Given the description of an element on the screen output the (x, y) to click on. 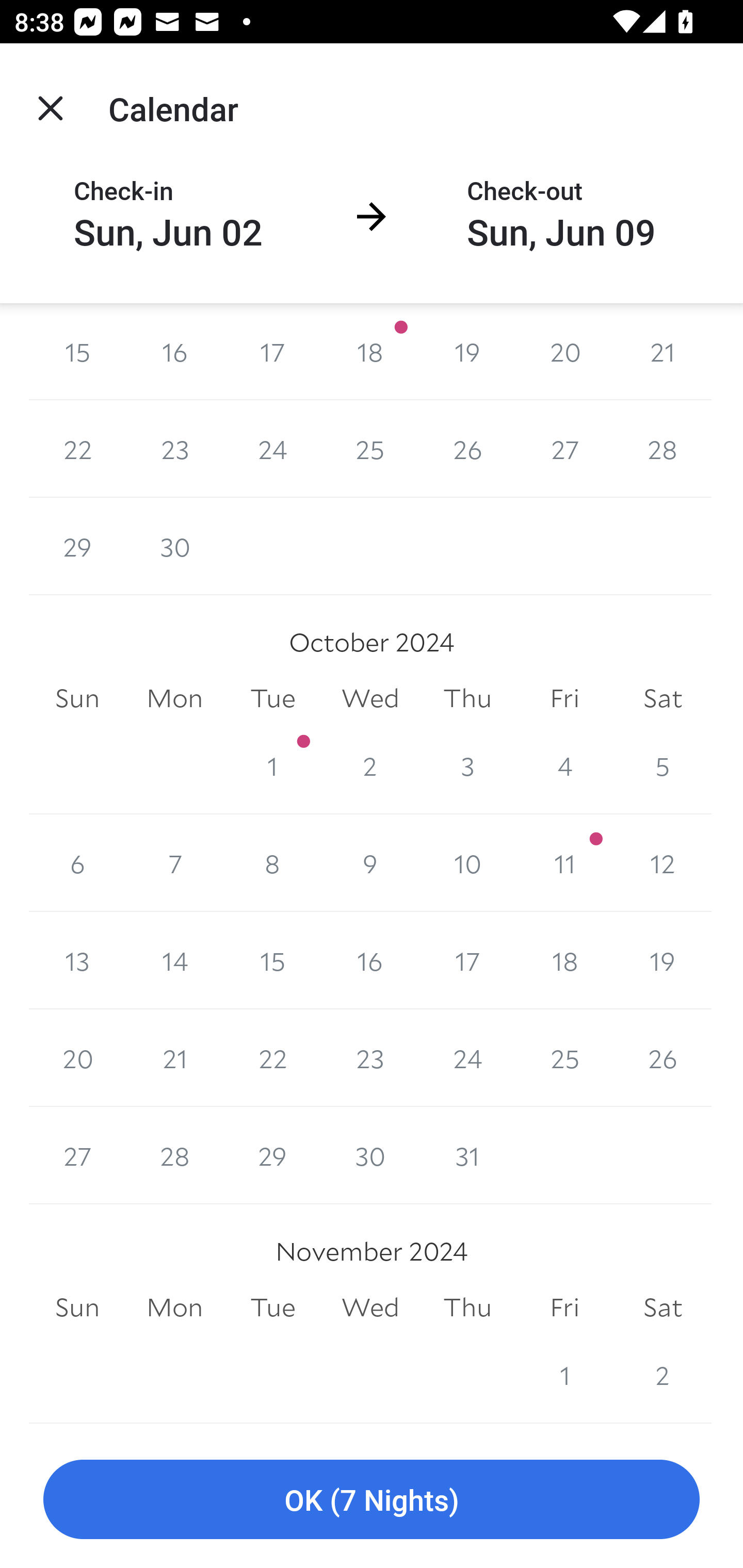
15 15 September 2024 (77, 350)
16 16 September 2024 (174, 350)
17 17 September 2024 (272, 350)
18 18 September 2024 (370, 350)
19 19 September 2024 (467, 350)
20 20 September 2024 (564, 350)
21 21 September 2024 (662, 350)
22 22 September 2024 (77, 448)
23 23 September 2024 (174, 448)
24 24 September 2024 (272, 448)
25 25 September 2024 (370, 448)
26 26 September 2024 (467, 448)
27 27 September 2024 (564, 448)
28 28 September 2024 (662, 448)
29 29 September 2024 (77, 546)
30 30 September 2024 (174, 546)
Sun (77, 698)
Mon (174, 698)
Tue (272, 698)
Wed (370, 698)
Thu (467, 698)
Fri (564, 698)
Sat (662, 698)
1 1 October 2024 (272, 764)
2 2 October 2024 (370, 764)
3 3 October 2024 (467, 764)
4 4 October 2024 (564, 764)
5 5 October 2024 (662, 764)
6 6 October 2024 (77, 862)
7 7 October 2024 (174, 862)
8 8 October 2024 (272, 862)
9 9 October 2024 (370, 862)
10 10 October 2024 (467, 862)
11 11 October 2024 (564, 862)
12 12 October 2024 (662, 862)
13 13 October 2024 (77, 960)
14 14 October 2024 (174, 960)
15 15 October 2024 (272, 960)
16 16 October 2024 (370, 960)
17 17 October 2024 (467, 960)
18 18 October 2024 (564, 960)
19 19 October 2024 (662, 960)
20 20 October 2024 (77, 1058)
21 21 October 2024 (174, 1058)
22 22 October 2024 (272, 1058)
23 23 October 2024 (370, 1058)
24 24 October 2024 (467, 1058)
25 25 October 2024 (564, 1058)
26 26 October 2024 (662, 1058)
27 27 October 2024 (77, 1155)
28 28 October 2024 (174, 1155)
29 29 October 2024 (272, 1155)
30 30 October 2024 (370, 1155)
31 31 October 2024 (467, 1155)
Sun (77, 1307)
Mon (174, 1307)
Tue (272, 1307)
Wed (370, 1307)
Thu (467, 1307)
Fri (564, 1307)
Sat (662, 1307)
1 1 November 2024 (564, 1374)
2 2 November 2024 (662, 1374)
OK (7 Nights) (371, 1499)
